Given the description of an element on the screen output the (x, y) to click on. 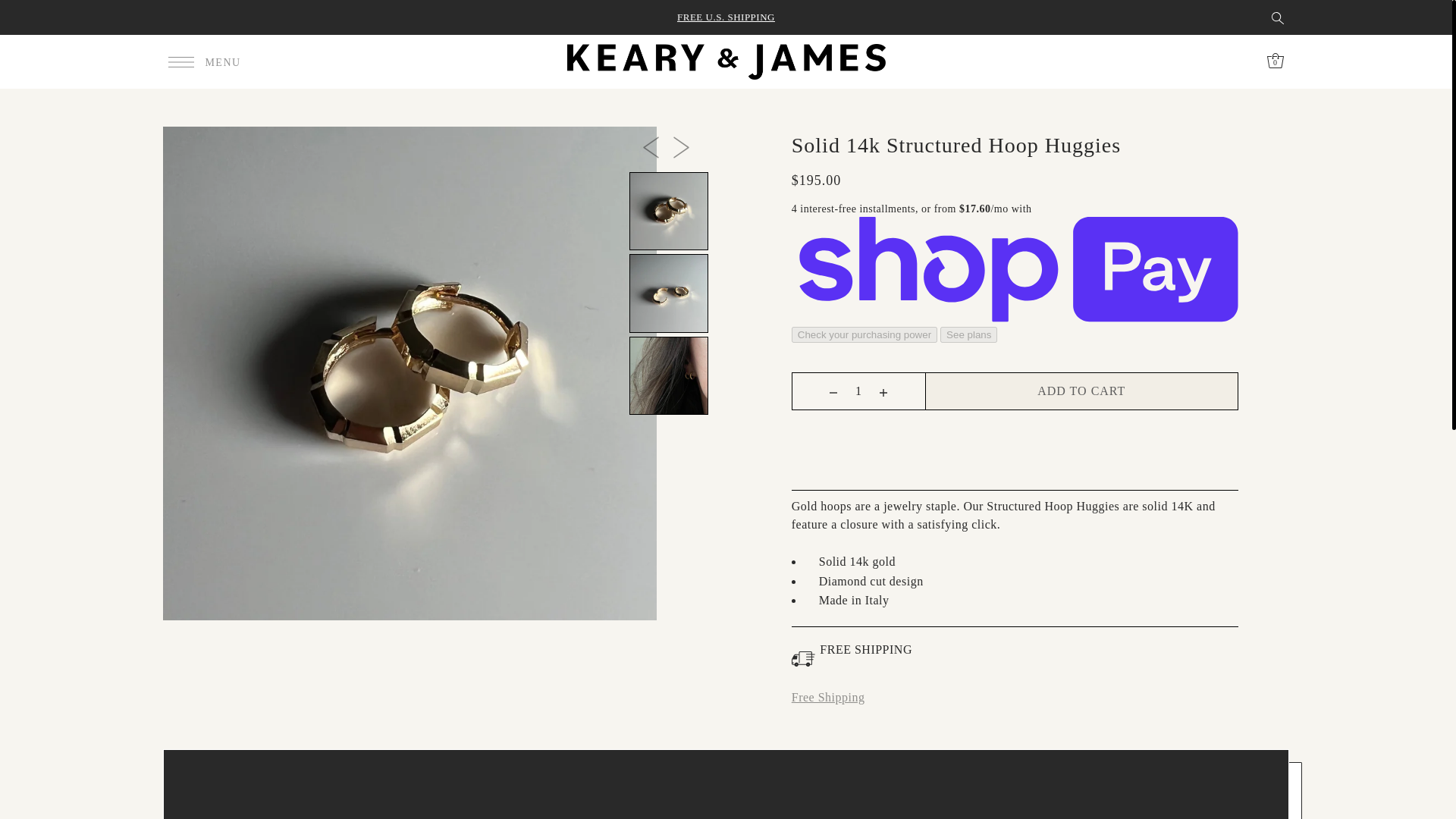
MENU (204, 61)
1 (858, 391)
0 (1276, 61)
FREE U.S. SHIPPING (725, 16)
